Given the description of an element on the screen output the (x, y) to click on. 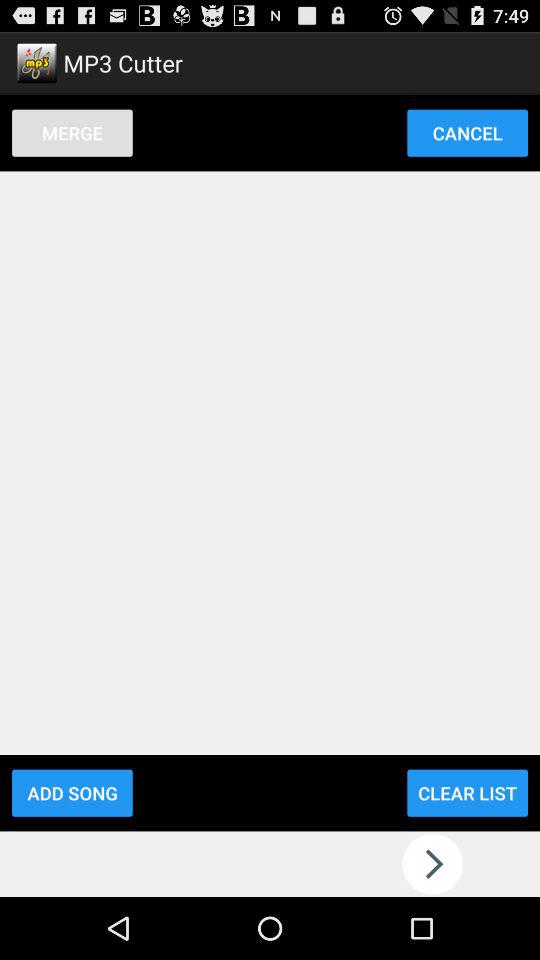
open the item next to merge (467, 132)
